Given the description of an element on the screen output the (x, y) to click on. 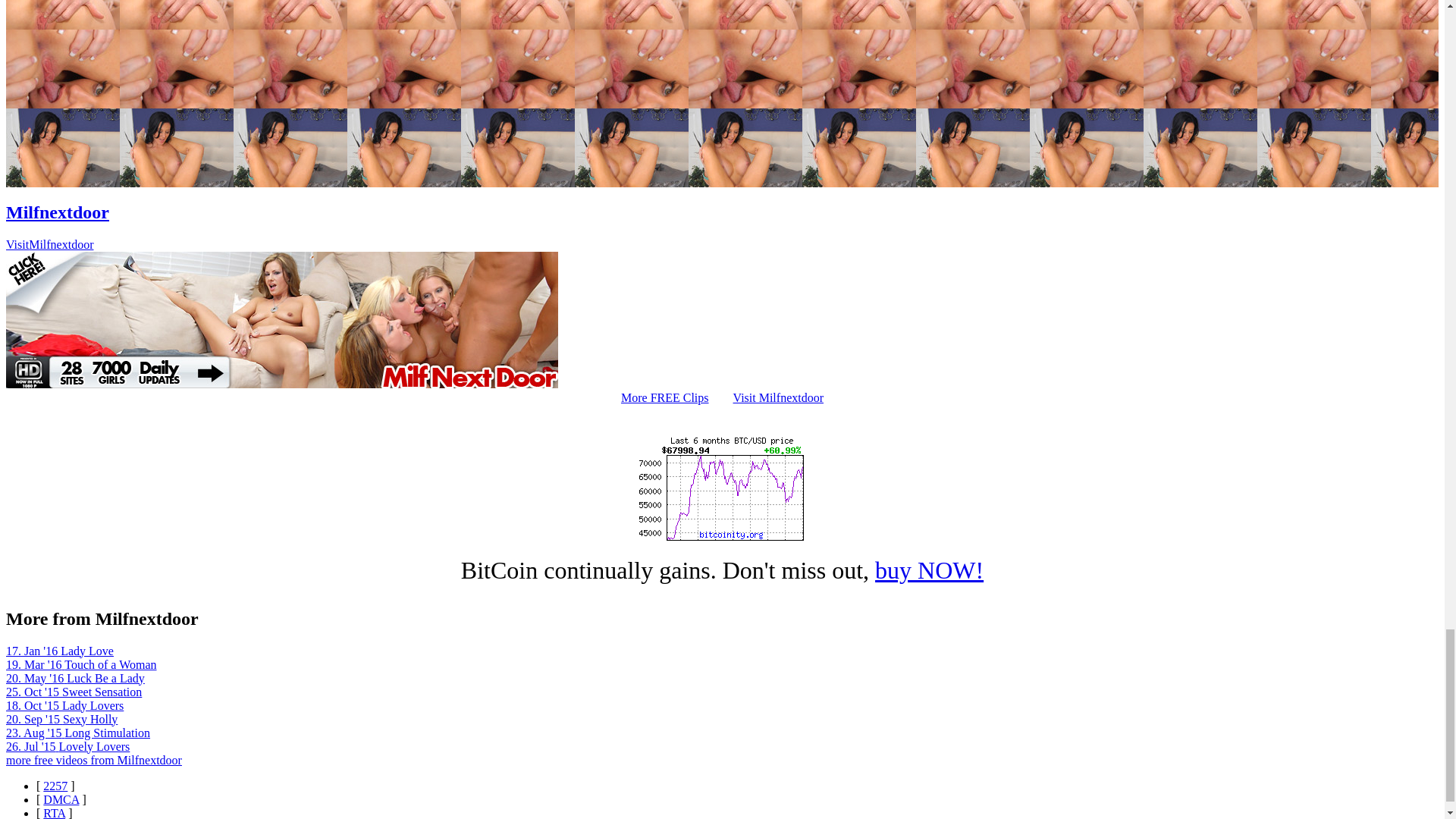
Milfnextdoor (57, 211)
